Given the description of an element on the screen output the (x, y) to click on. 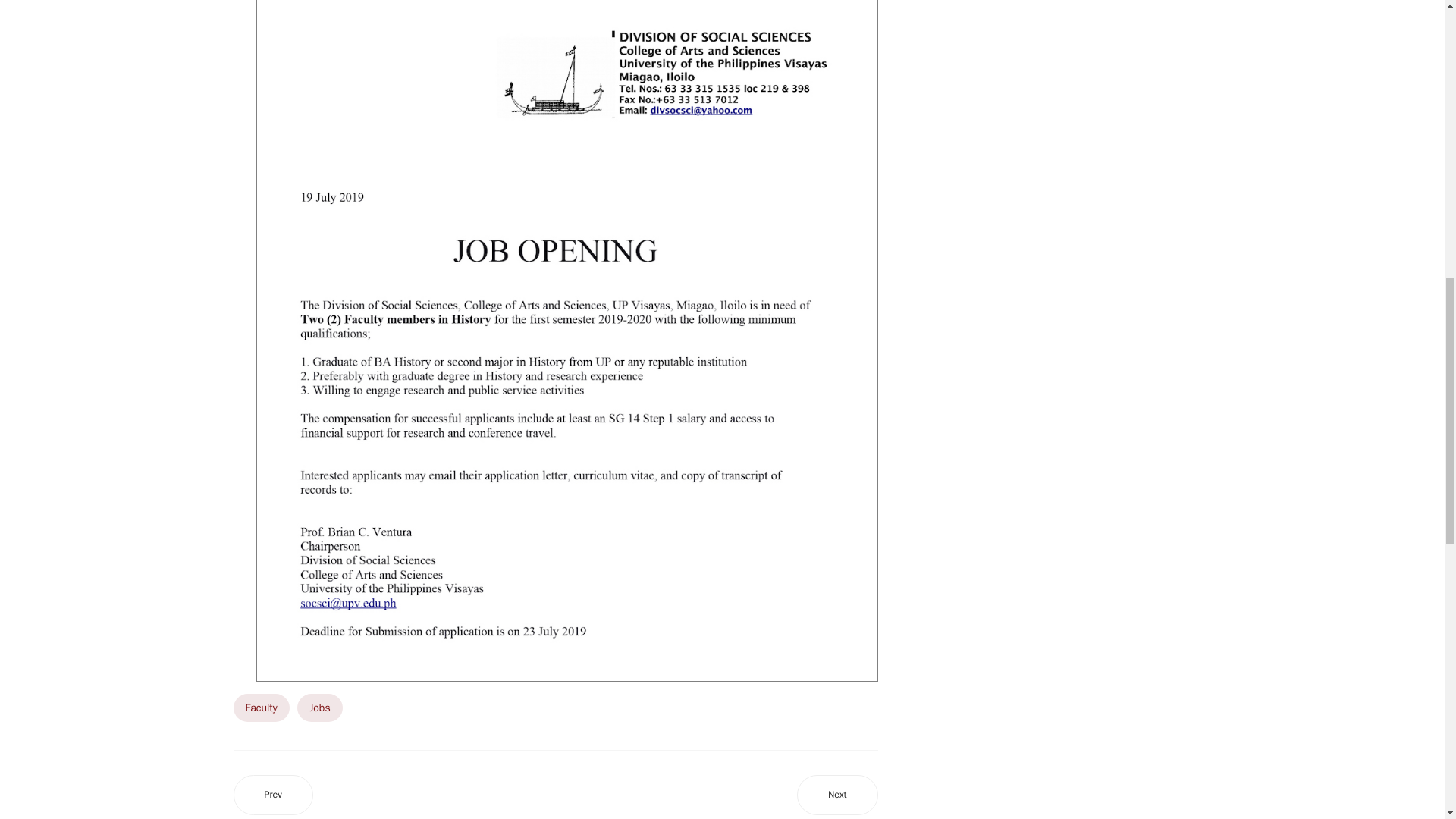
Prev (272, 794)
Next (836, 794)
Jobs (319, 707)
Faculty (260, 707)
